Given the description of an element on the screen output the (x, y) to click on. 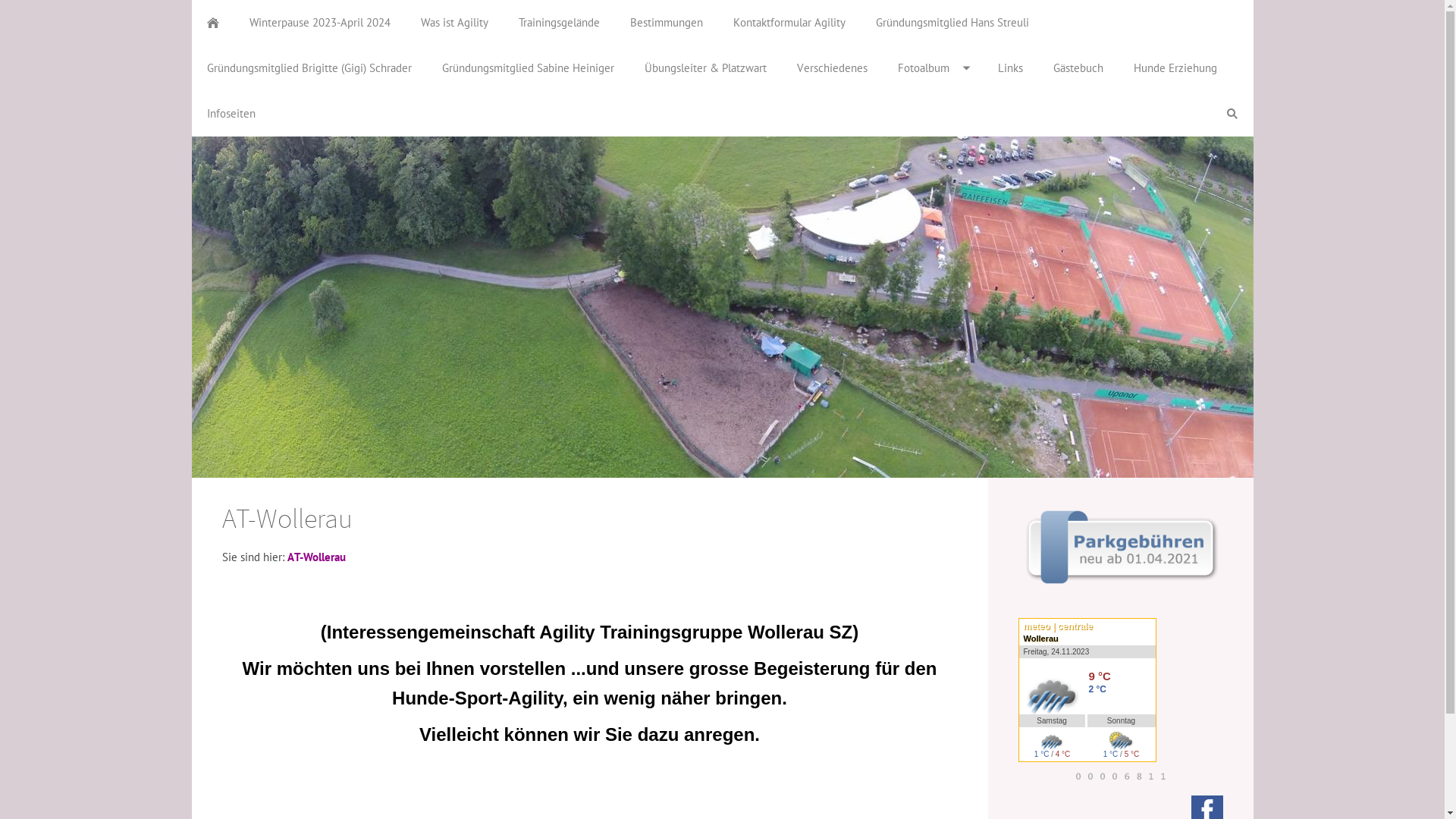
AT-Wollerau Element type: text (315, 556)
Verschiedenes Element type: text (831, 68)
Hunde Erziehung Element type: text (1174, 68)
Wollerau Element type: text (1040, 638)
Infoseiten Element type: text (230, 113)
Was ist Agility Element type: text (453, 22)
Fotoalbum Element type: text (932, 68)
Kontaktformular Agility Element type: text (788, 22)
Links Element type: text (1010, 68)
meteo | centrale Element type: text (1087, 625)
Winterpause 2023-April 2024 Element type: text (318, 22)
Bestimmungen Element type: text (665, 22)
